Given the description of an element on the screen output the (x, y) to click on. 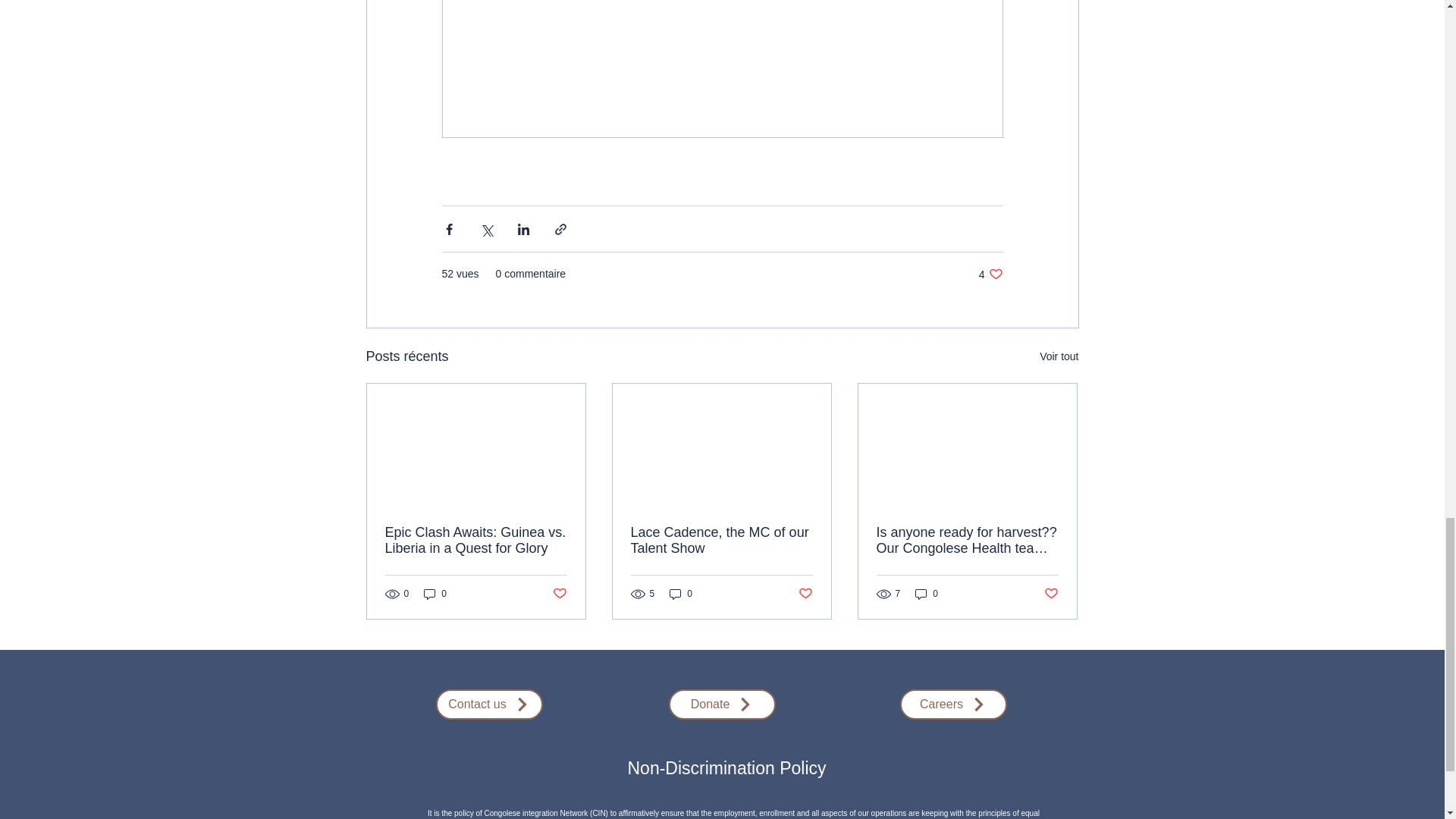
Voir tout (1058, 356)
Lace Cadence, the MC of our Talent Show (721, 540)
Vous n'aimez plus ce post (804, 593)
0 (990, 273)
Vous n'aimez plus ce post (681, 594)
0 (558, 593)
Epic Clash Awaits: Guinea vs. Liberia in a Quest for Glory (435, 594)
